Given the description of an element on the screen output the (x, y) to click on. 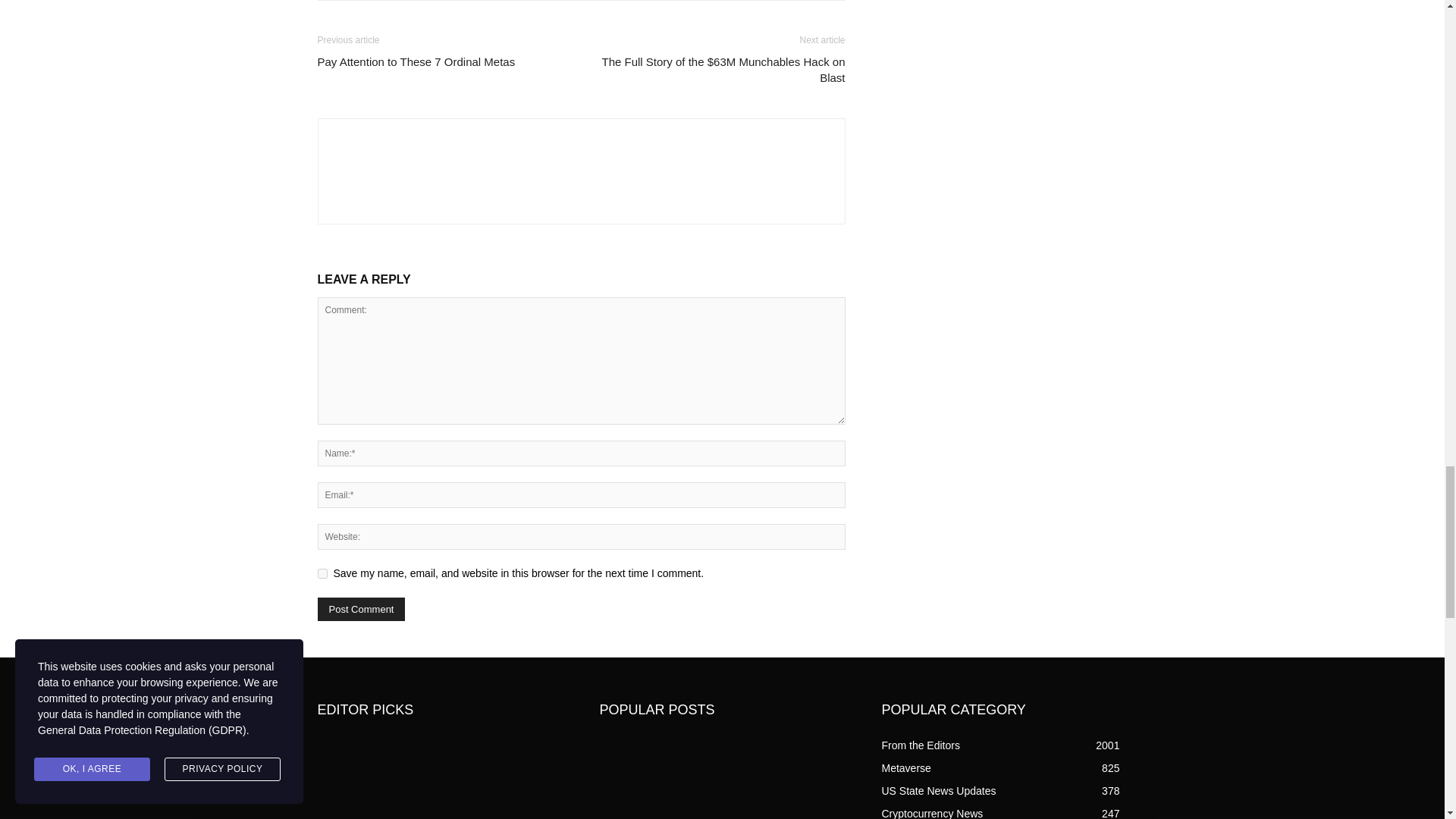
yes (321, 573)
Post Comment (360, 608)
